Given the description of an element on the screen output the (x, y) to click on. 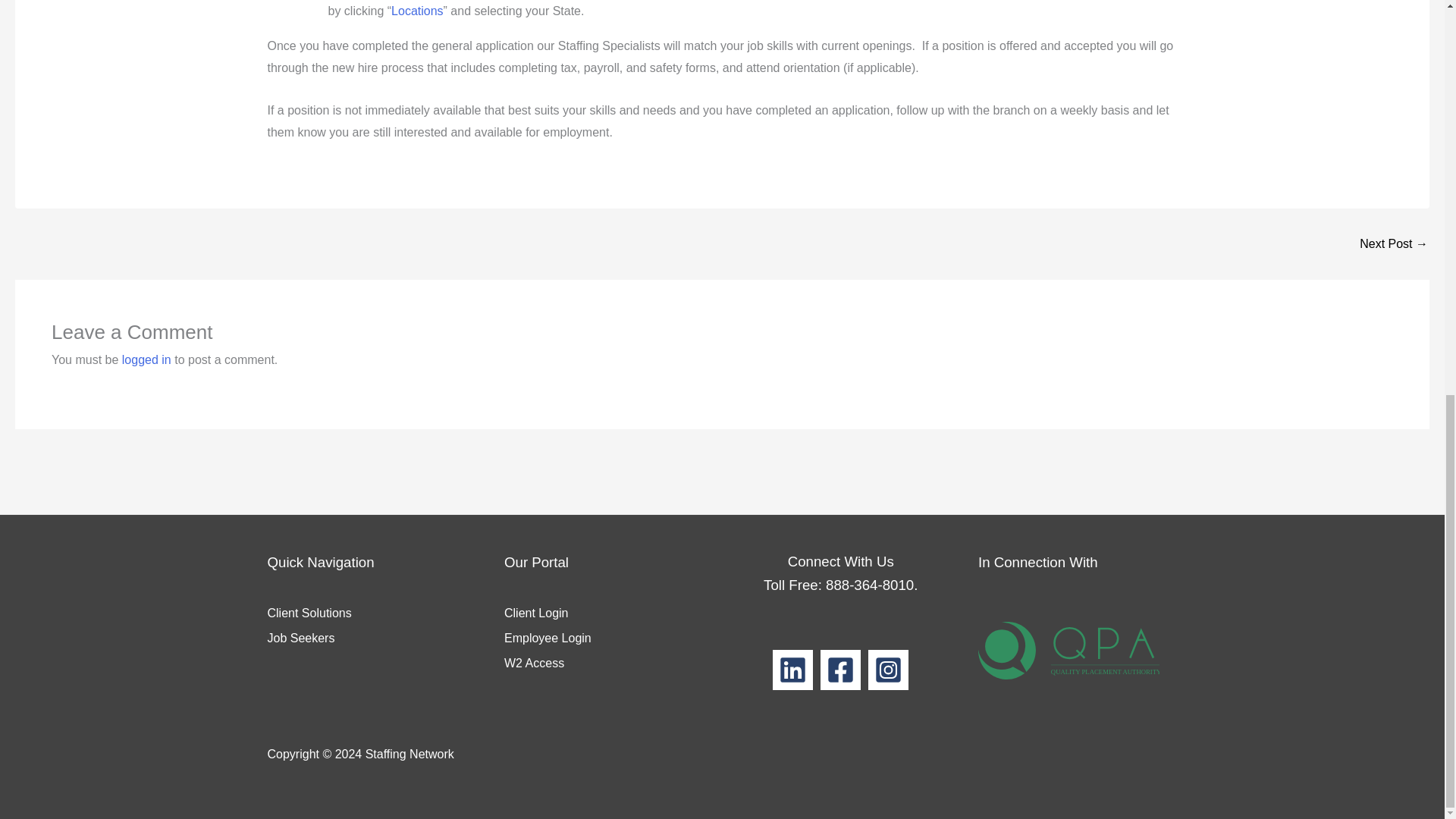
logged in (146, 359)
Locations (417, 10)
10 Warehouse Jobs that Pay Well (1393, 244)
